Given the description of an element on the screen output the (x, y) to click on. 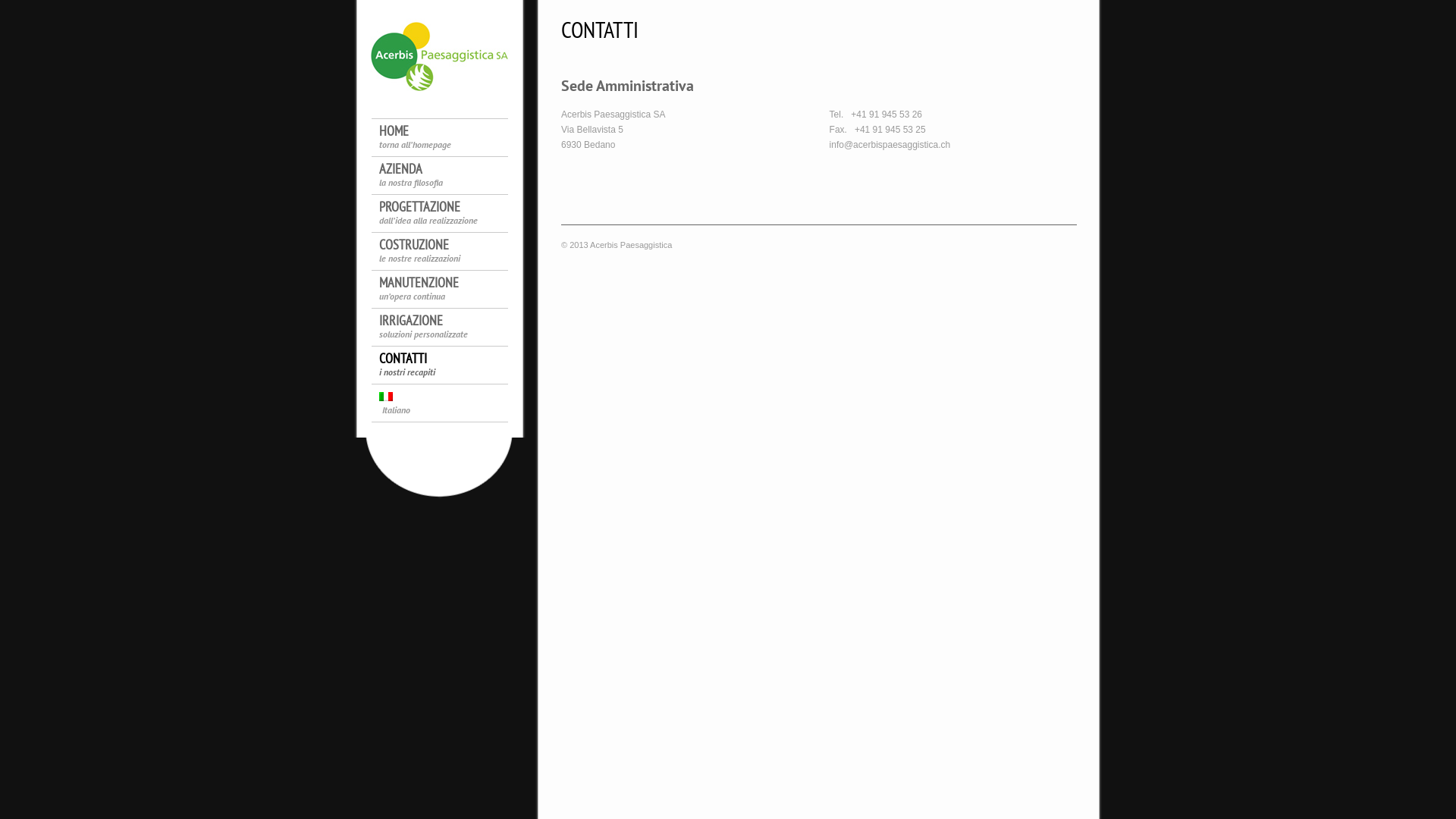
Italiano Element type: text (447, 404)
COSTRUZIONE
le nostre realizzazioni Element type: text (447, 252)
AZIENDA
la nostra filosofia Element type: text (447, 176)
Italiano Element type: hover (385, 396)
CONTATTI
i nostri recapiti Element type: text (447, 366)
IRRIGAZIONE
soluzioni personalizzate Element type: text (447, 328)
